Given the description of an element on the screen output the (x, y) to click on. 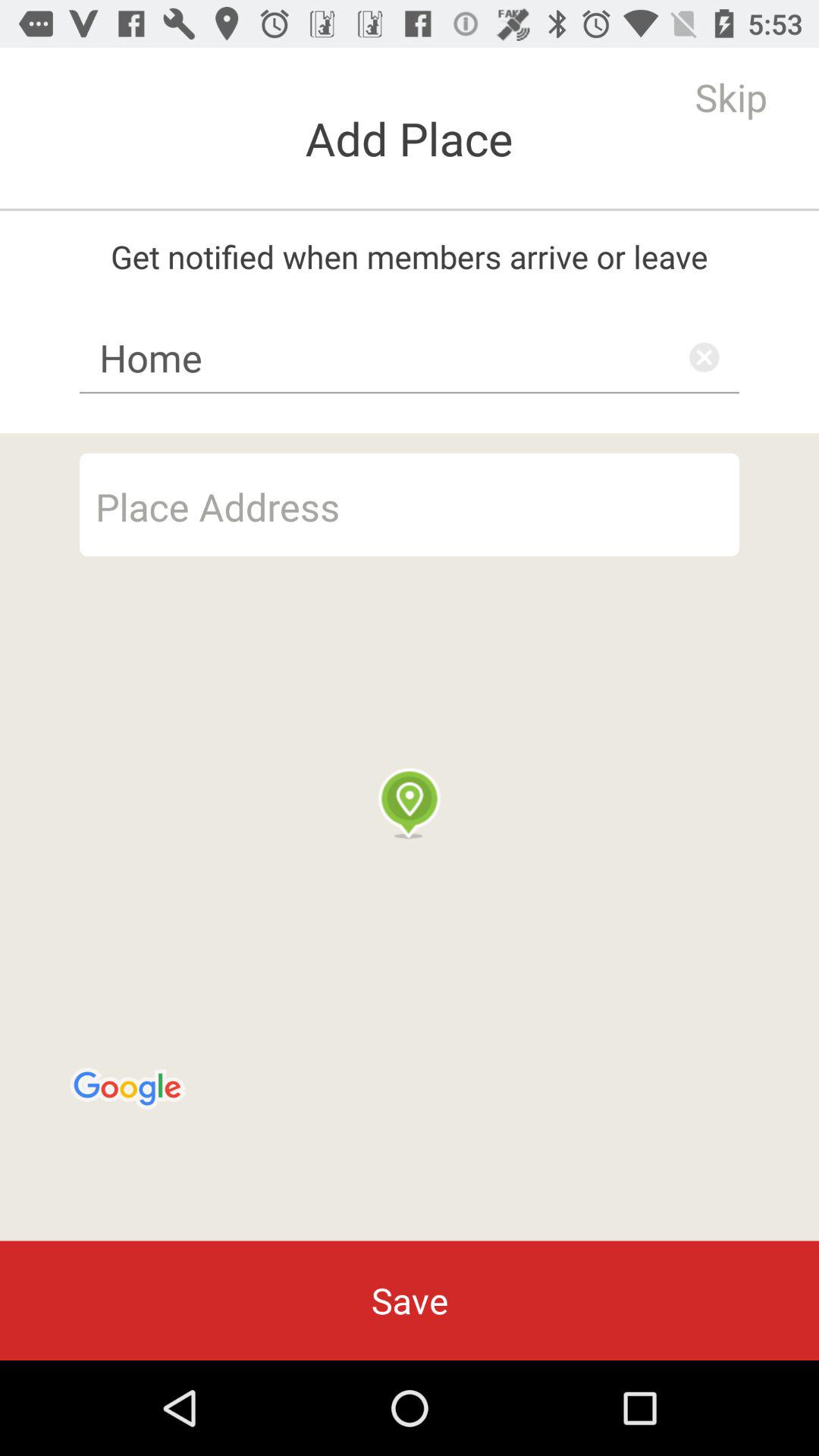
choose the item above save icon (409, 837)
